Given the description of an element on the screen output the (x, y) to click on. 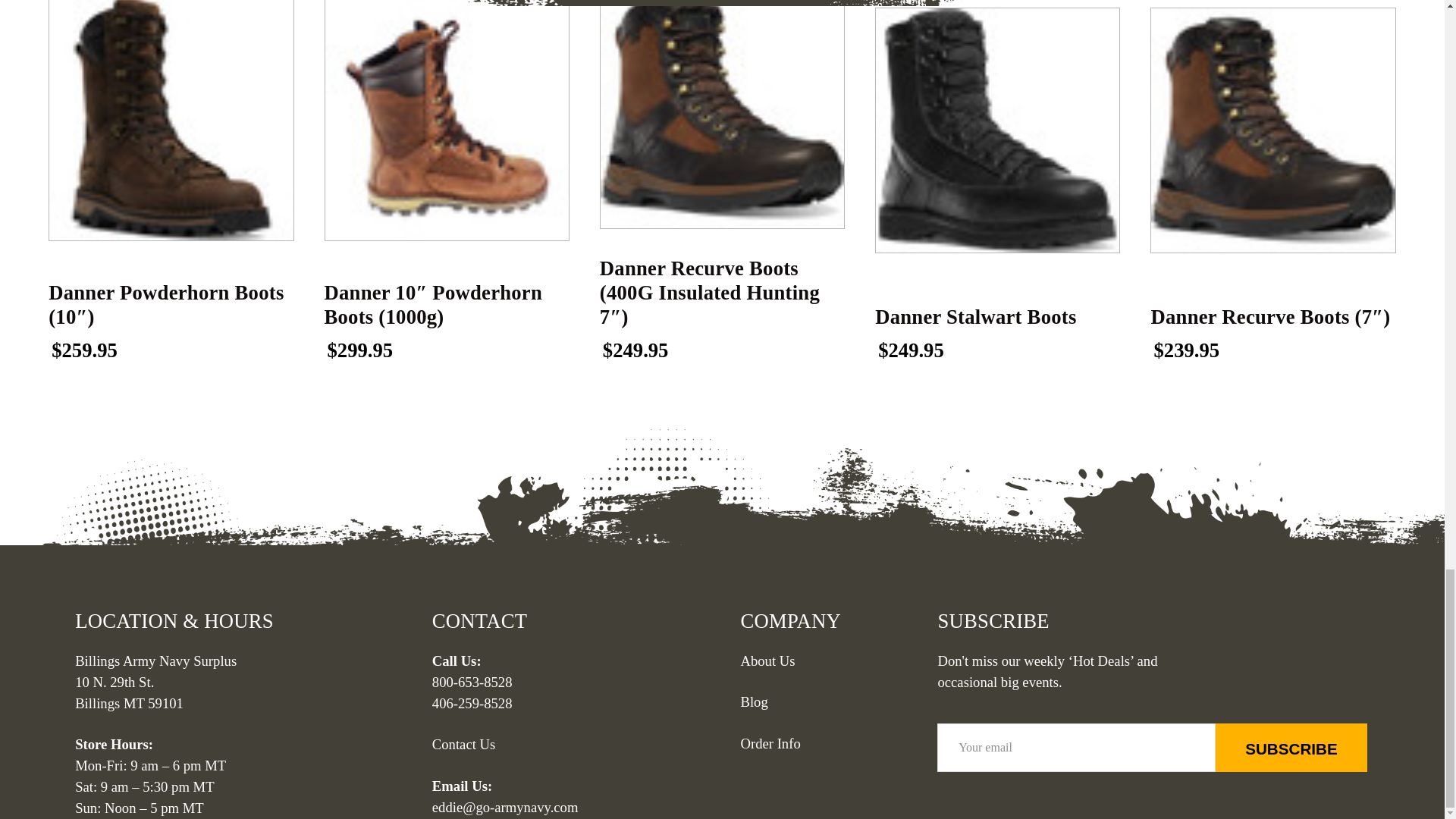
Danner Recurve (721, 114)
Danner Powderhorn (171, 120)
Danner Stalwart Boots (997, 129)
Powderhorn Boot (446, 120)
Danner Recurve Boot (1272, 129)
